Given the description of an element on the screen output the (x, y) to click on. 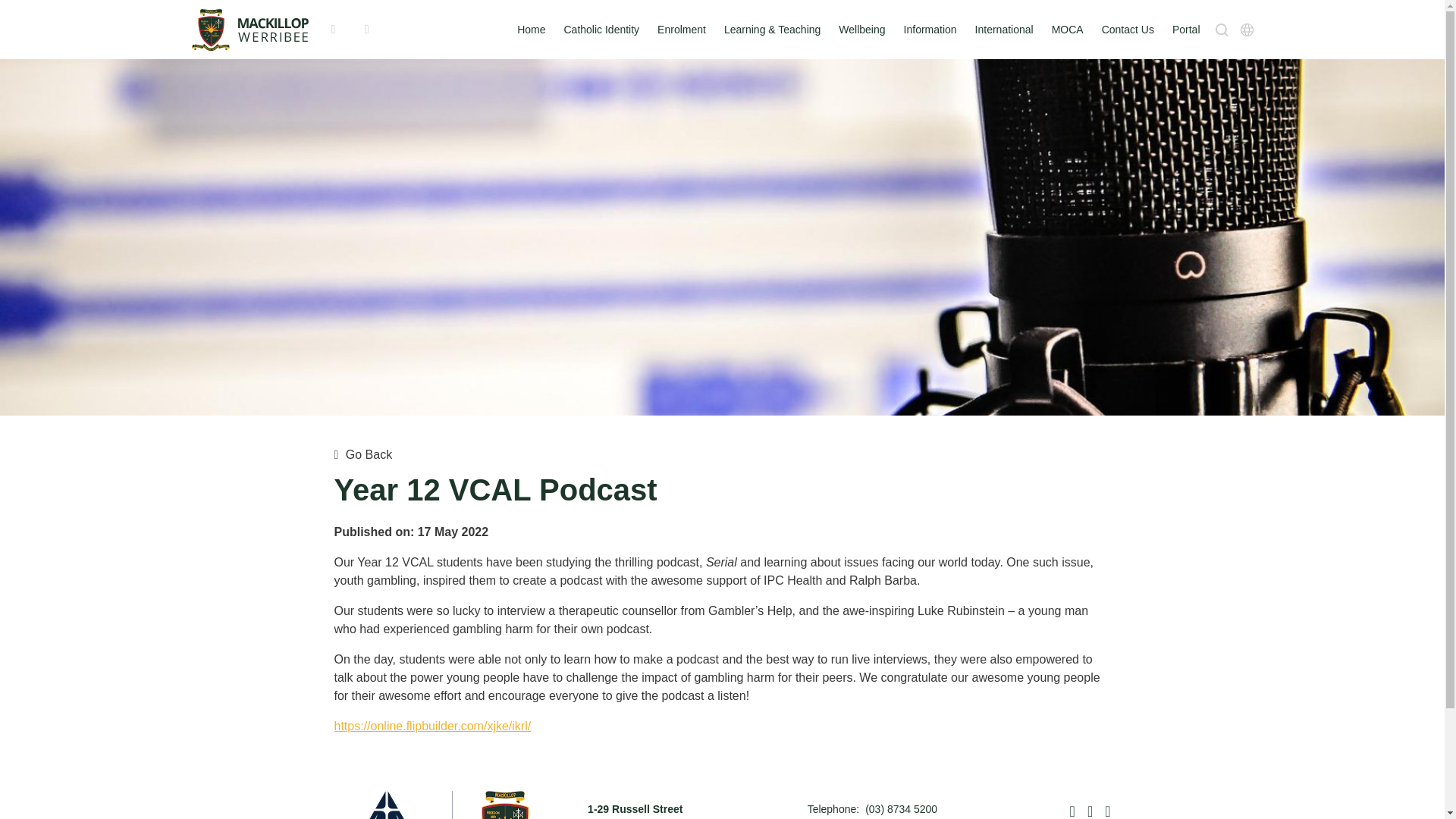
Catholic Identity (602, 29)
Enrolment (682, 29)
